Given the description of an element on the screen output the (x, y) to click on. 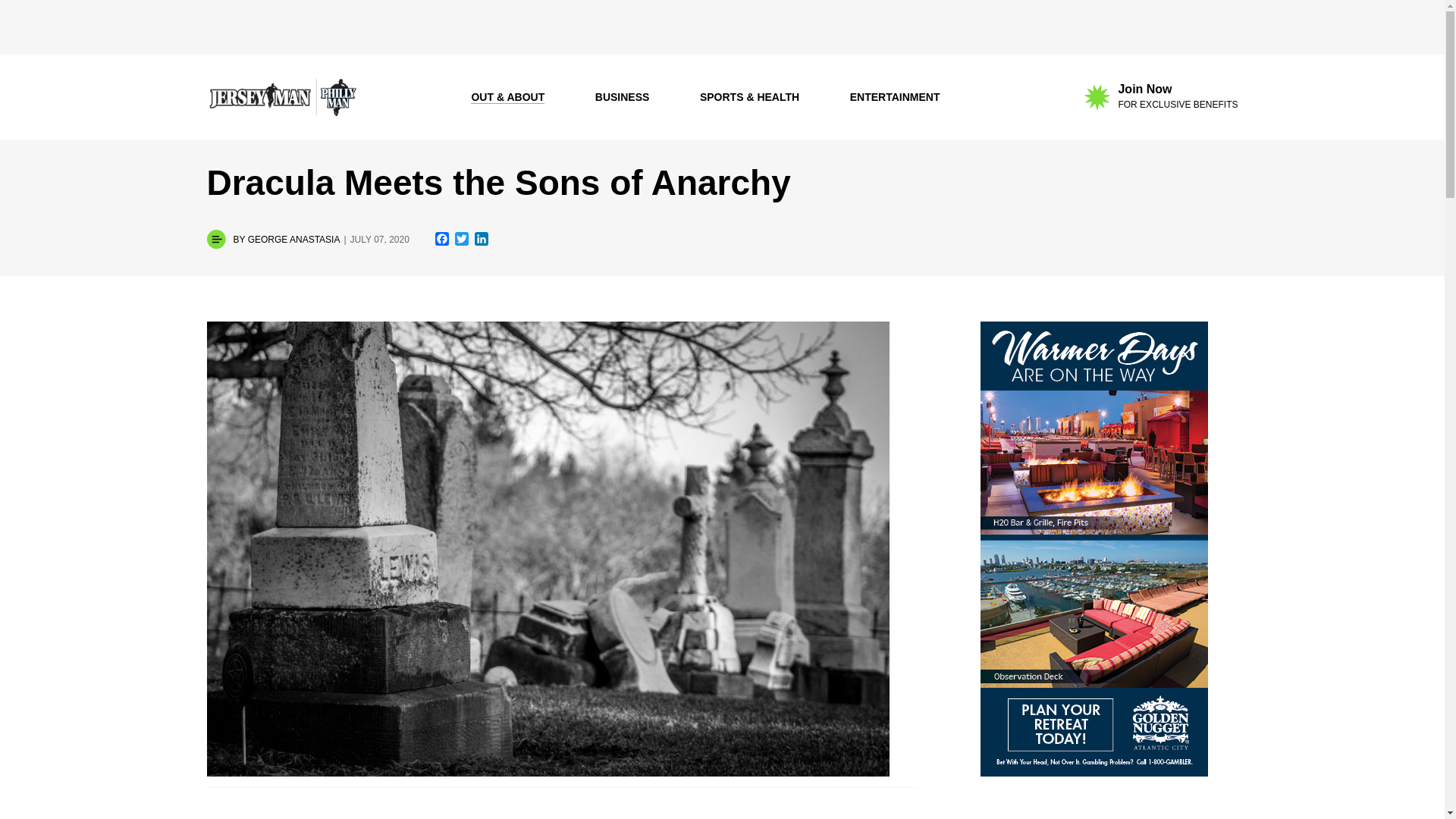
Facebook (441, 239)
Twitter (461, 239)
Search (424, 14)
TWITTER (1160, 96)
BUSINESS (461, 239)
FACEBOOK (622, 96)
LinkedIn (441, 239)
LINKEDIN (481, 239)
ENTERTAINMENT (481, 239)
